Given the description of an element on the screen output the (x, y) to click on. 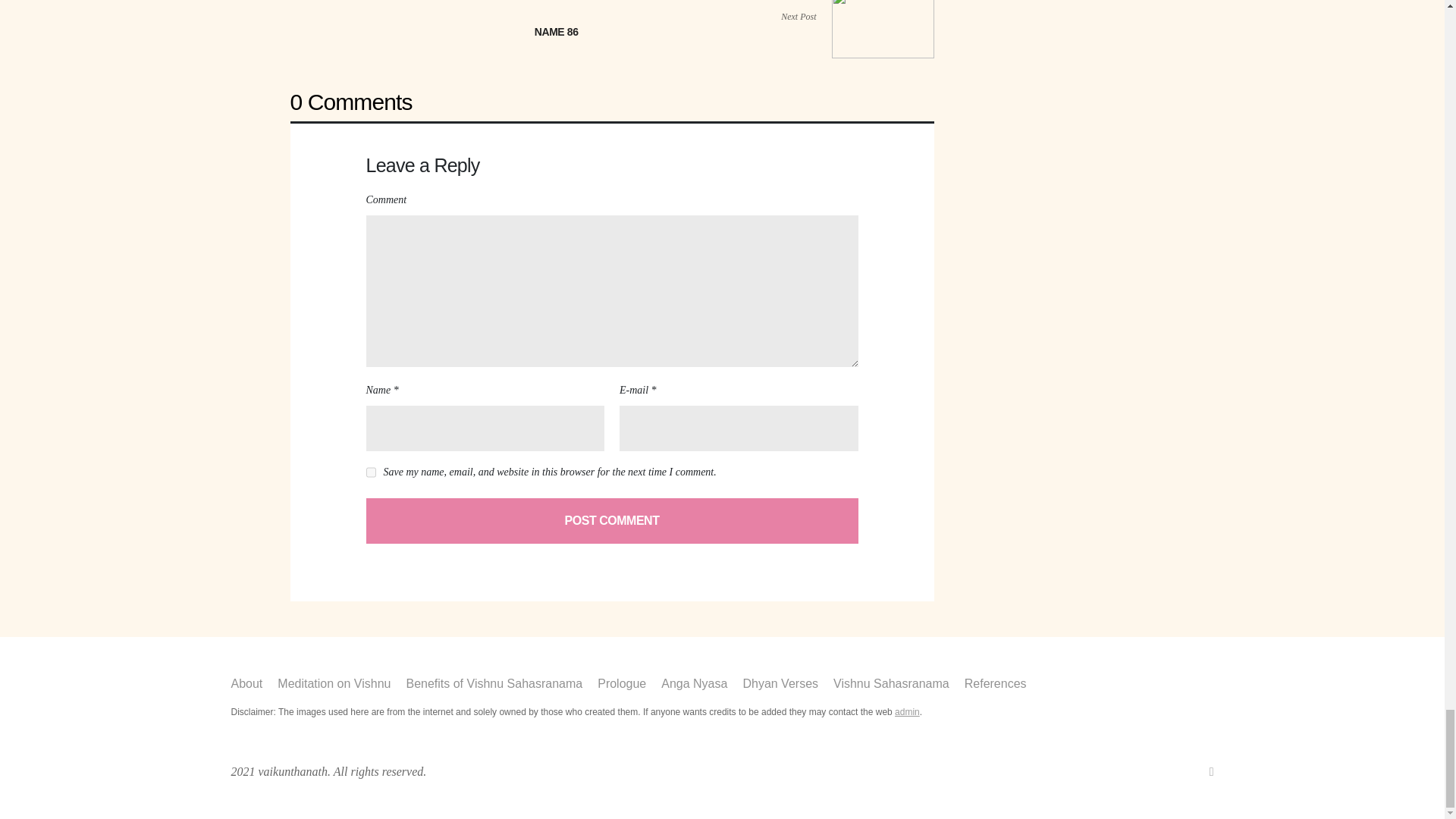
Post Comment (611, 520)
